Given the description of an element on the screen output the (x, y) to click on. 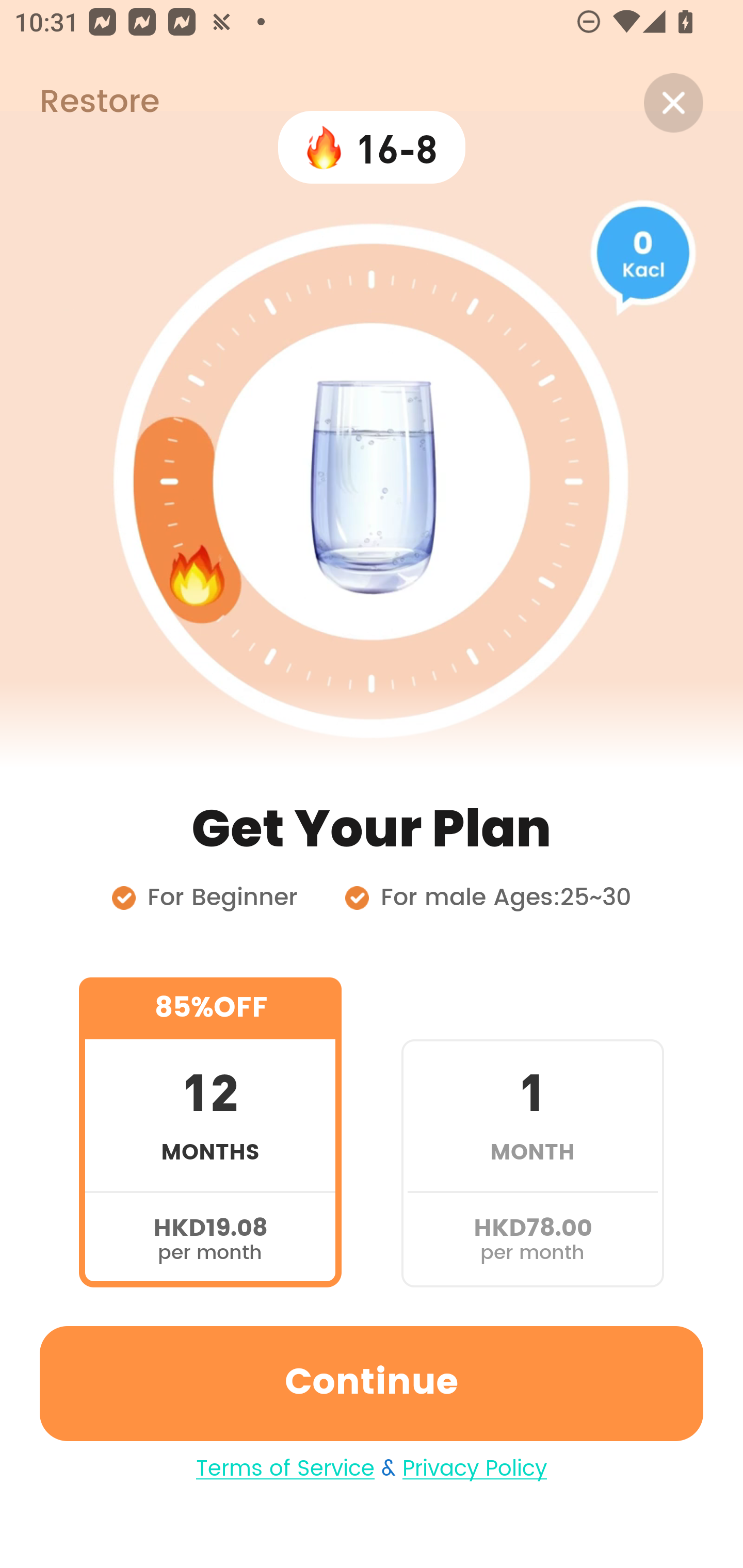
Restore (79, 102)
85%OFF 12 MONTHS per month HKD19.08 (209, 1131)
1 MONTH per month HKD78.00 (532, 1131)
Continue (371, 1383)
